Given the description of an element on the screen output the (x, y) to click on. 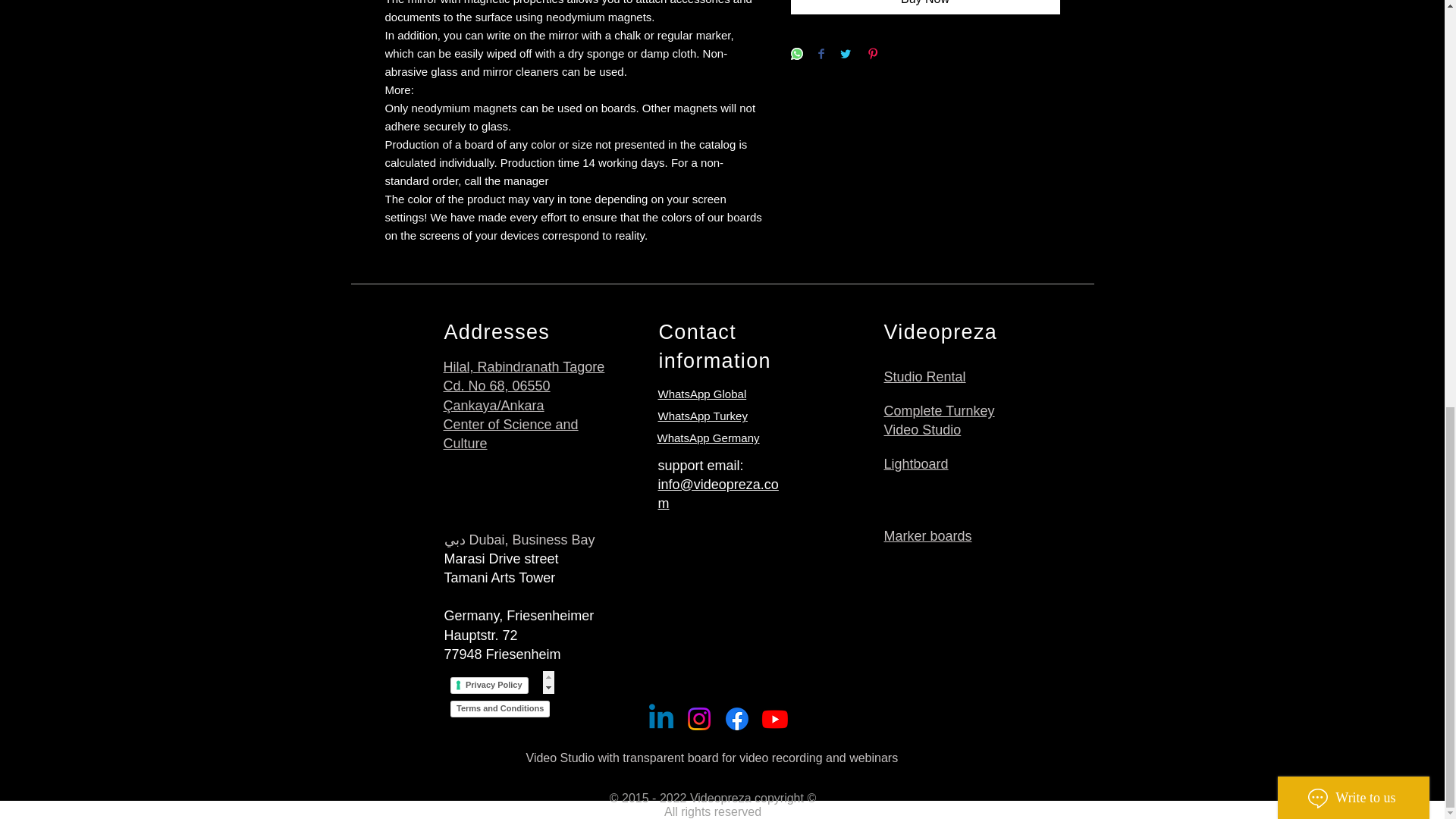
Privacy Policy (499, 681)
Terms and conditions (508, 713)
Complete Turnkey Video Studio (938, 420)
Studio Rental (924, 376)
Buy Now (924, 7)
